Given the description of an element on the screen output the (x, y) to click on. 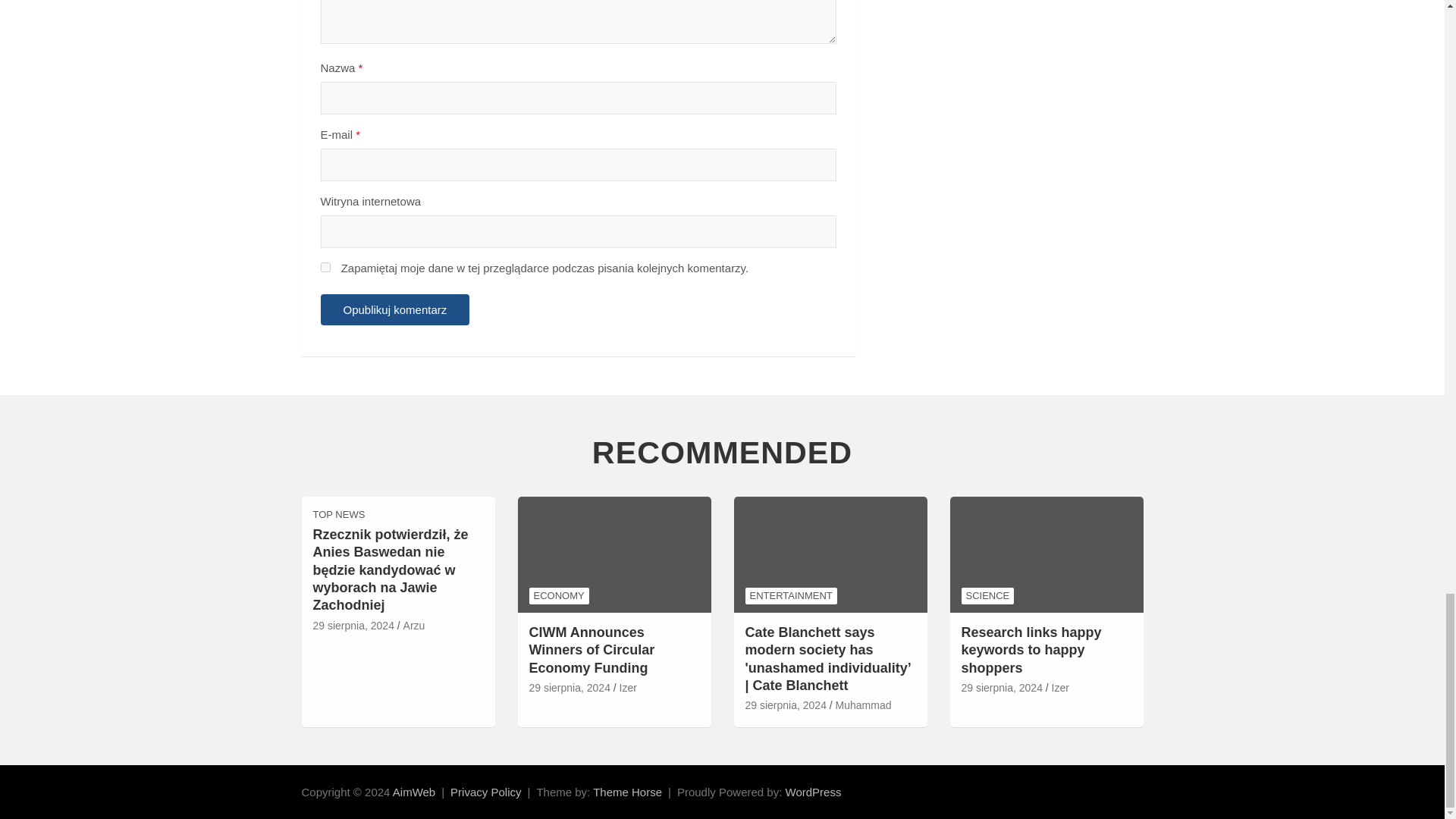
Opublikuj komentarz (394, 309)
Research links happy keywords to happy shoppers (1001, 688)
CIWM Announces Winners of Circular Economy Funding (569, 688)
29 sierpnia, 2024 (353, 626)
Theme Horse (627, 791)
yes (325, 266)
AimWeb (414, 791)
WordPress (813, 791)
TOP NEWS (339, 514)
Arzu (414, 626)
